Given the description of an element on the screen output the (x, y) to click on. 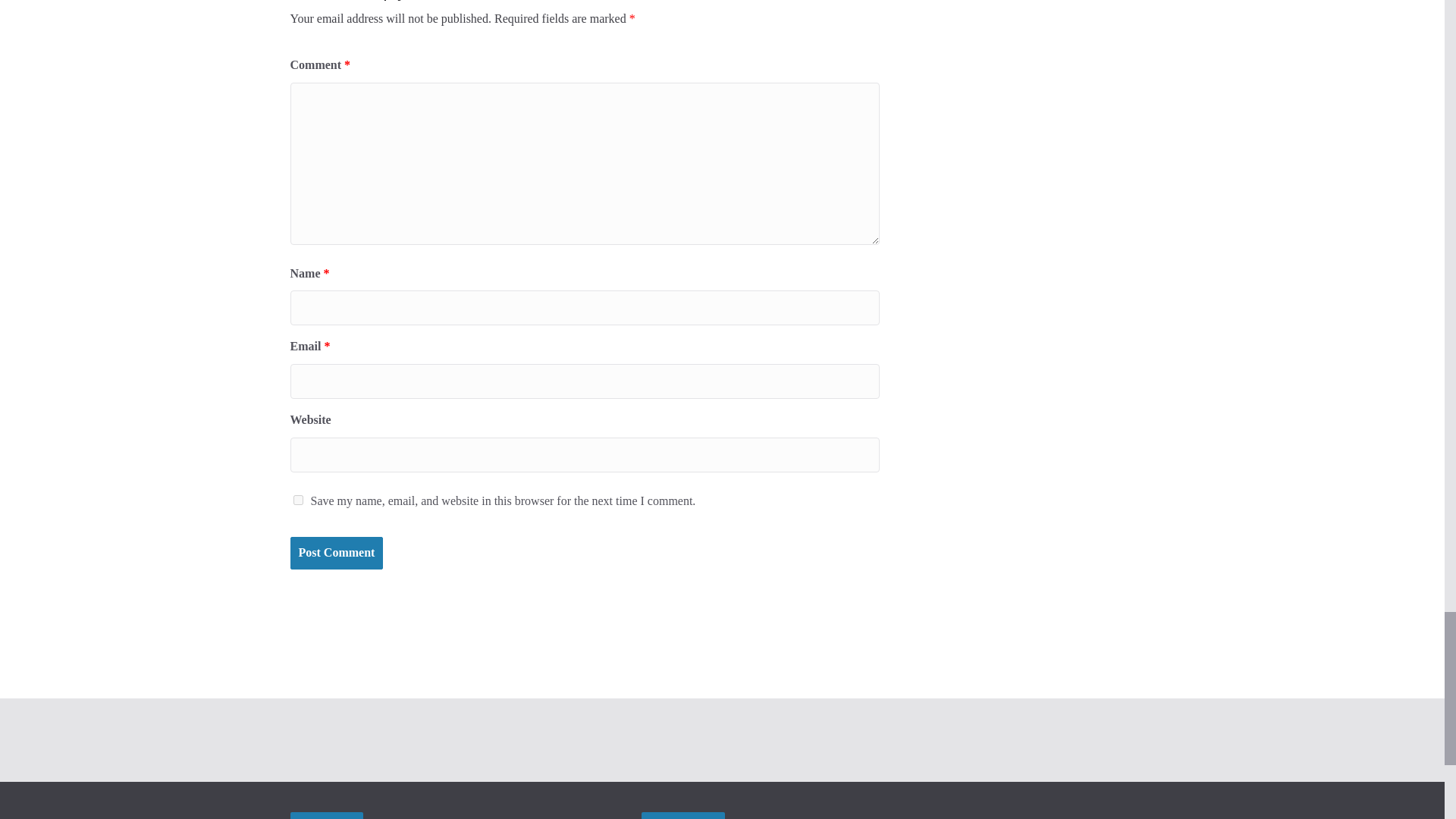
Post Comment (335, 553)
yes (297, 500)
